Given the description of an element on the screen output the (x, y) to click on. 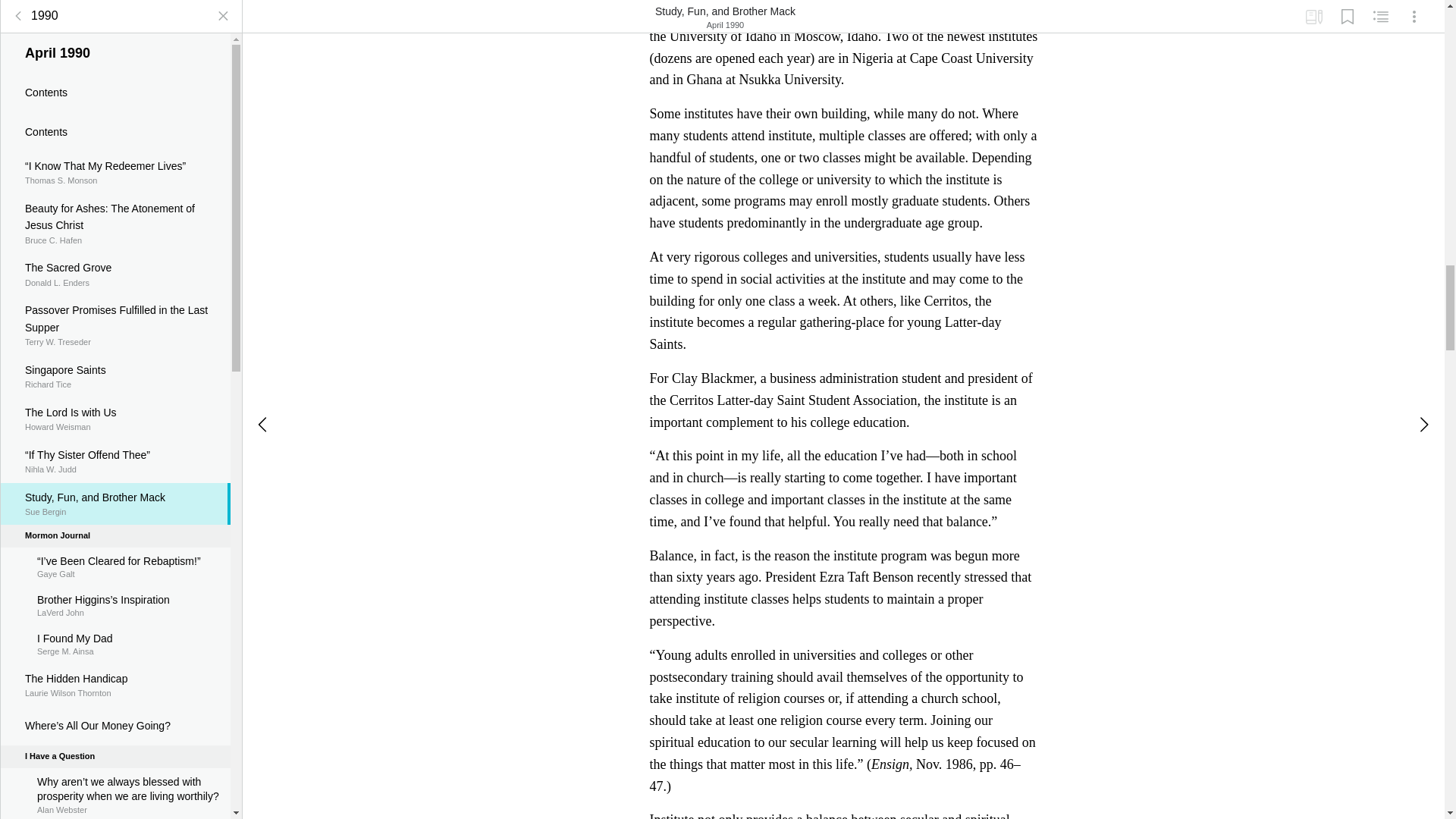
Church to Open Seven New Missions in U.S. (115, 295)
Remember Him through the Sacrament (115, 349)
Elder Oaks Speaks, Visits Officials in China (115, 705)
Missionary Milestone: More than 40,000 (115, 449)
Typhoon Hits Three Islands (115, 123)
